Given the description of an element on the screen output the (x, y) to click on. 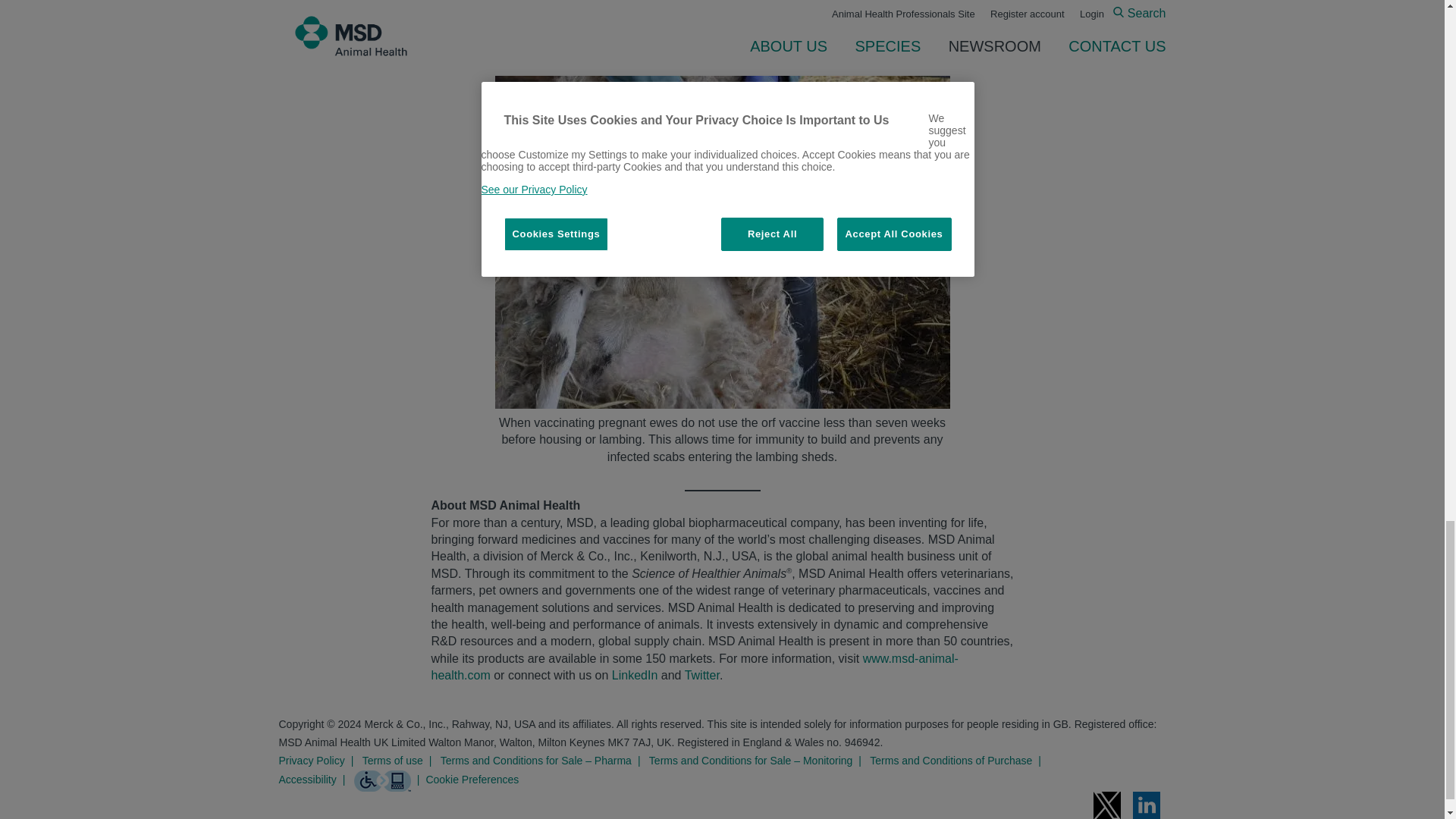
Accessibility (315, 779)
Privacy Policy (319, 760)
www.msd-animal-health.com (694, 666)
LinkedIn (634, 675)
Terms and Conditions of Purchase (957, 760)
Terms of use (400, 760)
Twitter (701, 675)
